Given the description of an element on the screen output the (x, y) to click on. 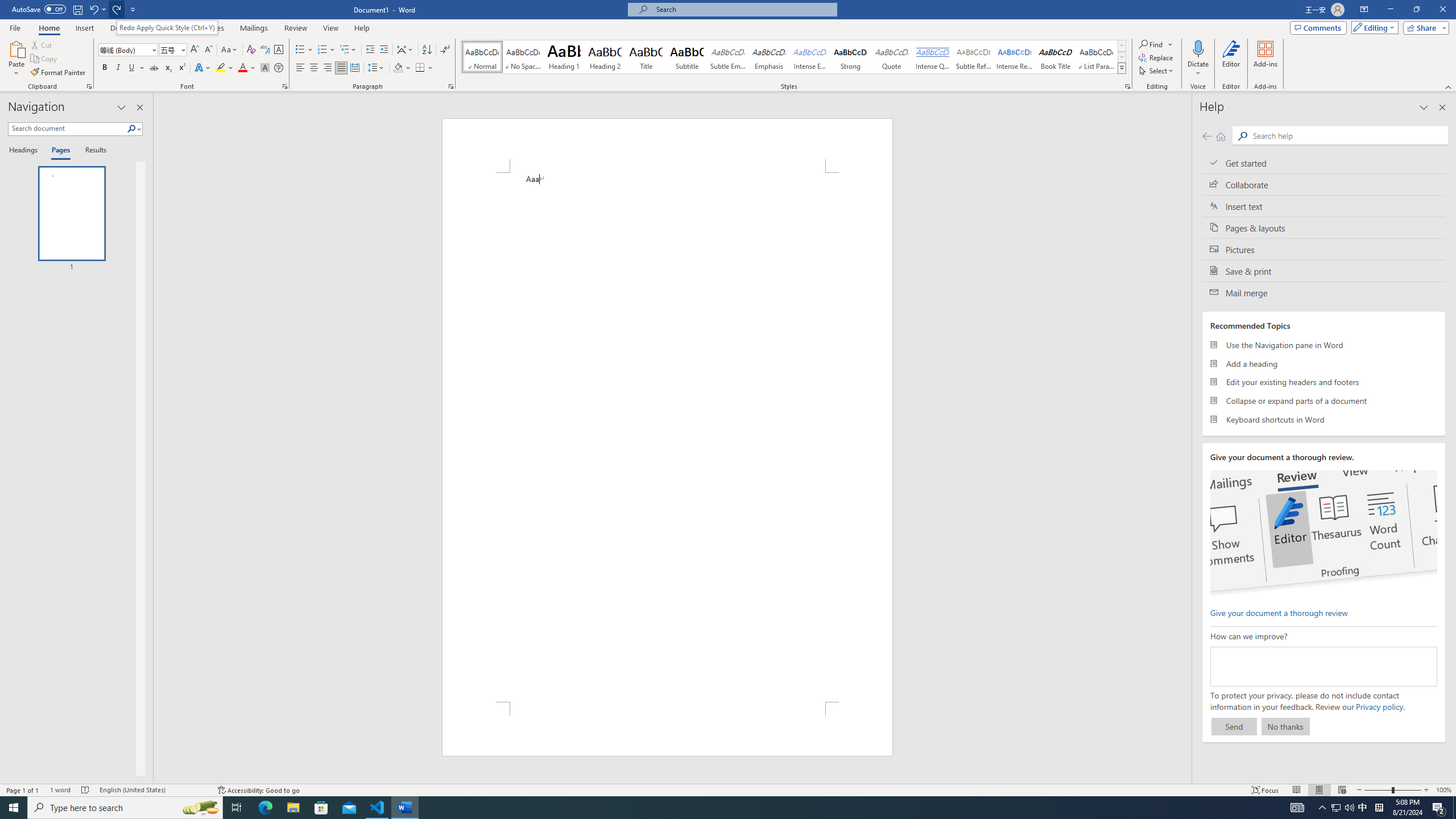
Font Color Red (241, 67)
Zoom 100% (1443, 790)
editor ui screenshot (1323, 533)
